Given the description of an element on the screen output the (x, y) to click on. 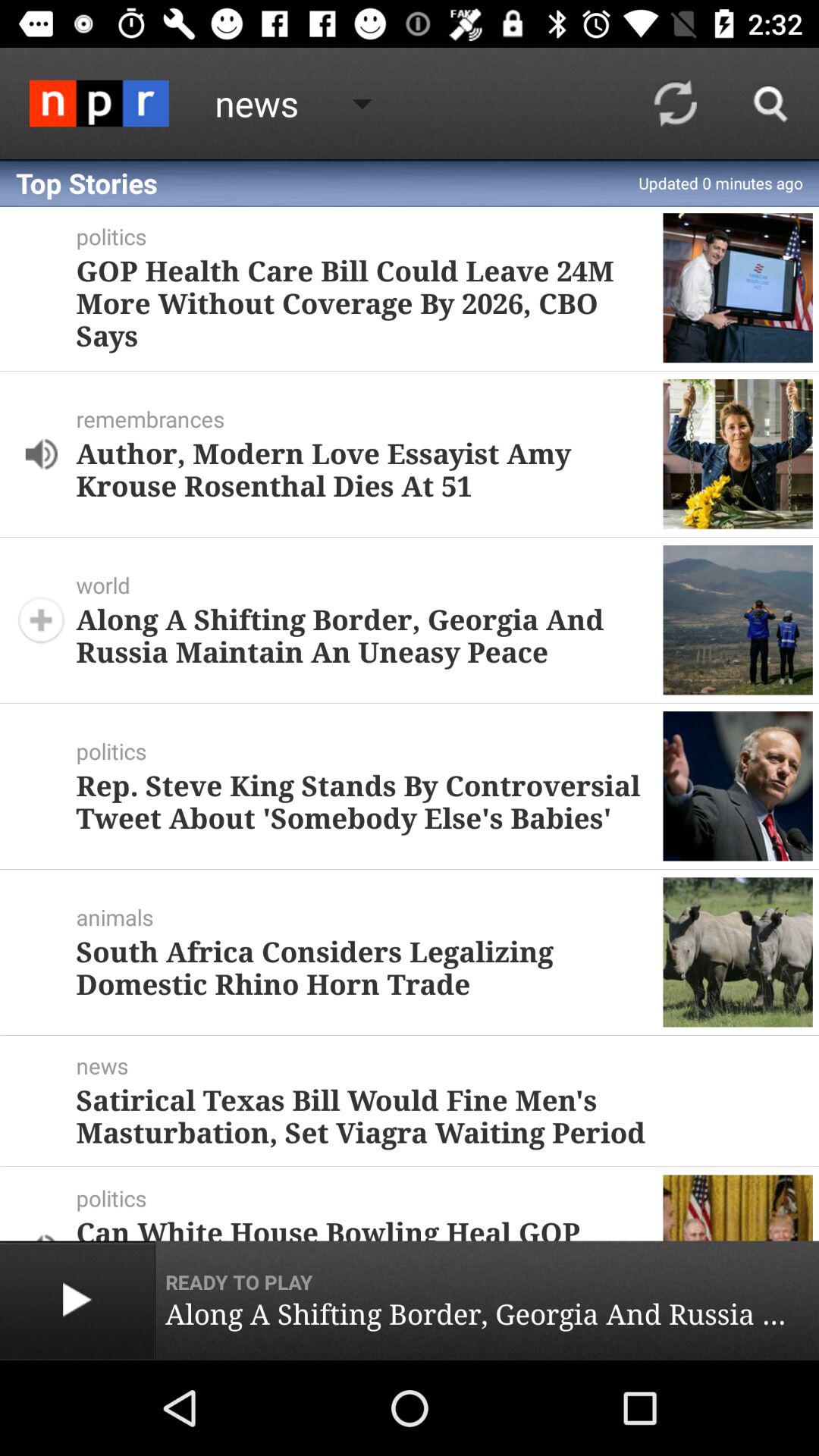
press the item next to top stories item (675, 103)
